Given the description of an element on the screen output the (x, y) to click on. 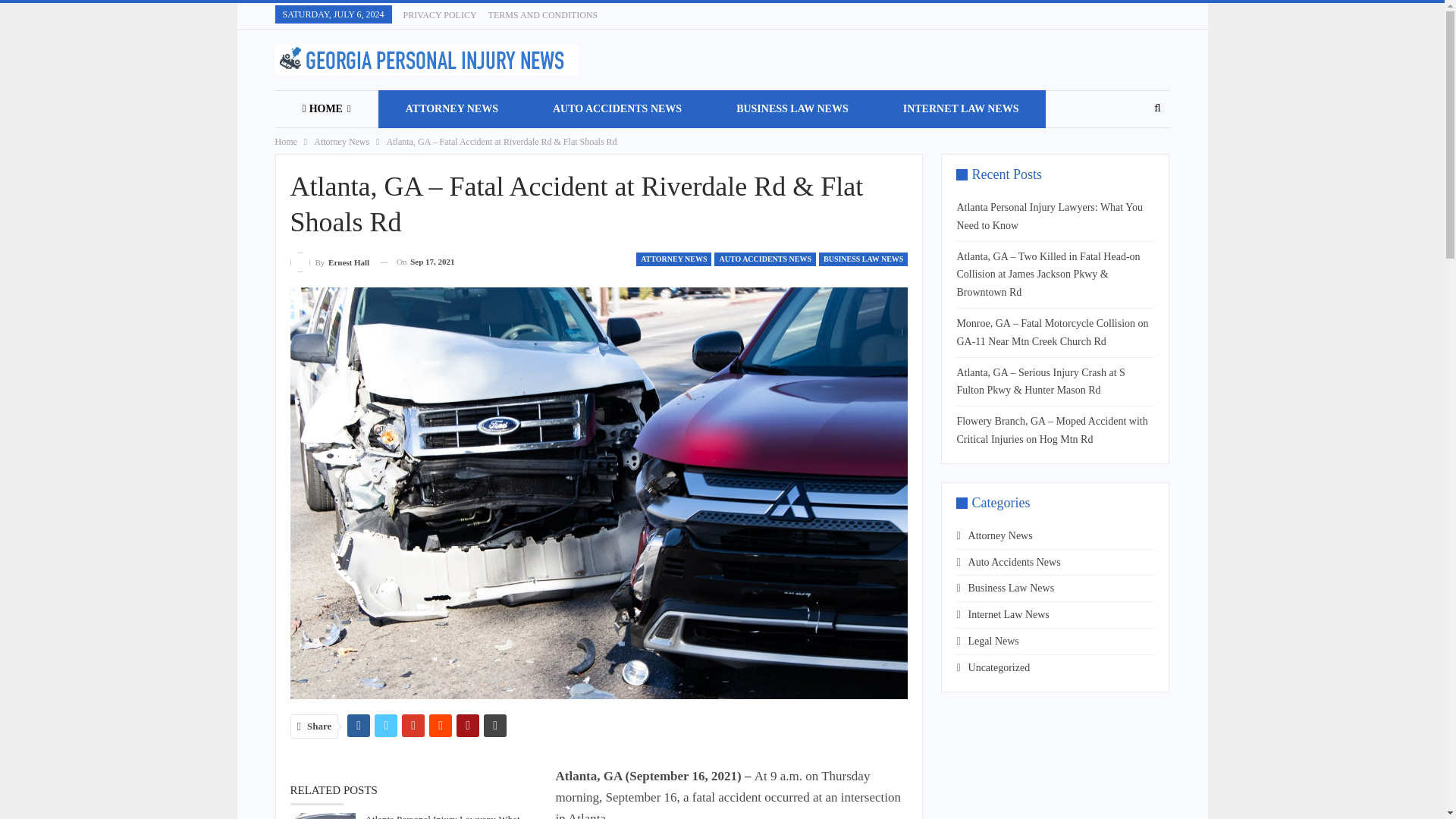
BUSINESS LAW NEWS (862, 259)
Browse Author Articles (329, 261)
ATTORNEY NEWS (451, 108)
MORE (322, 146)
INTERNET LAW NEWS (961, 108)
Atlanta Personal Injury Lawyers: What You Need to Know (322, 816)
Attorney News (341, 141)
PRIVACY POLICY (440, 14)
By Ernest Hall (329, 261)
AUTO ACCIDENTS NEWS (617, 108)
BUSINESS LAW NEWS (792, 108)
HOME (326, 108)
TERMS AND CONDITIONS (542, 14)
ATTORNEY NEWS (673, 259)
AUTO ACCIDENTS NEWS (764, 259)
